Given the description of an element on the screen output the (x, y) to click on. 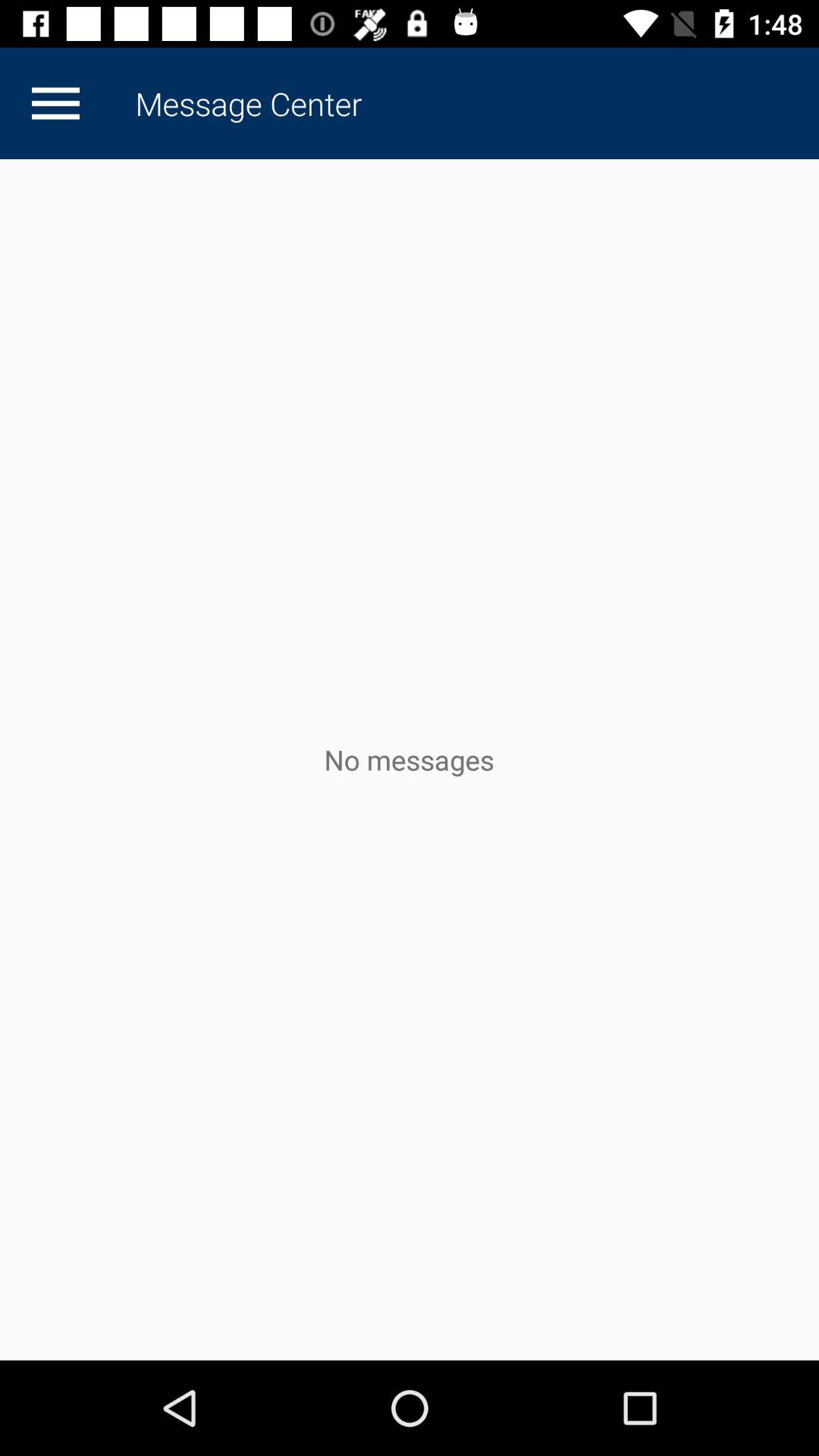
turn on app next to the message center item (55, 103)
